Given the description of an element on the screen output the (x, y) to click on. 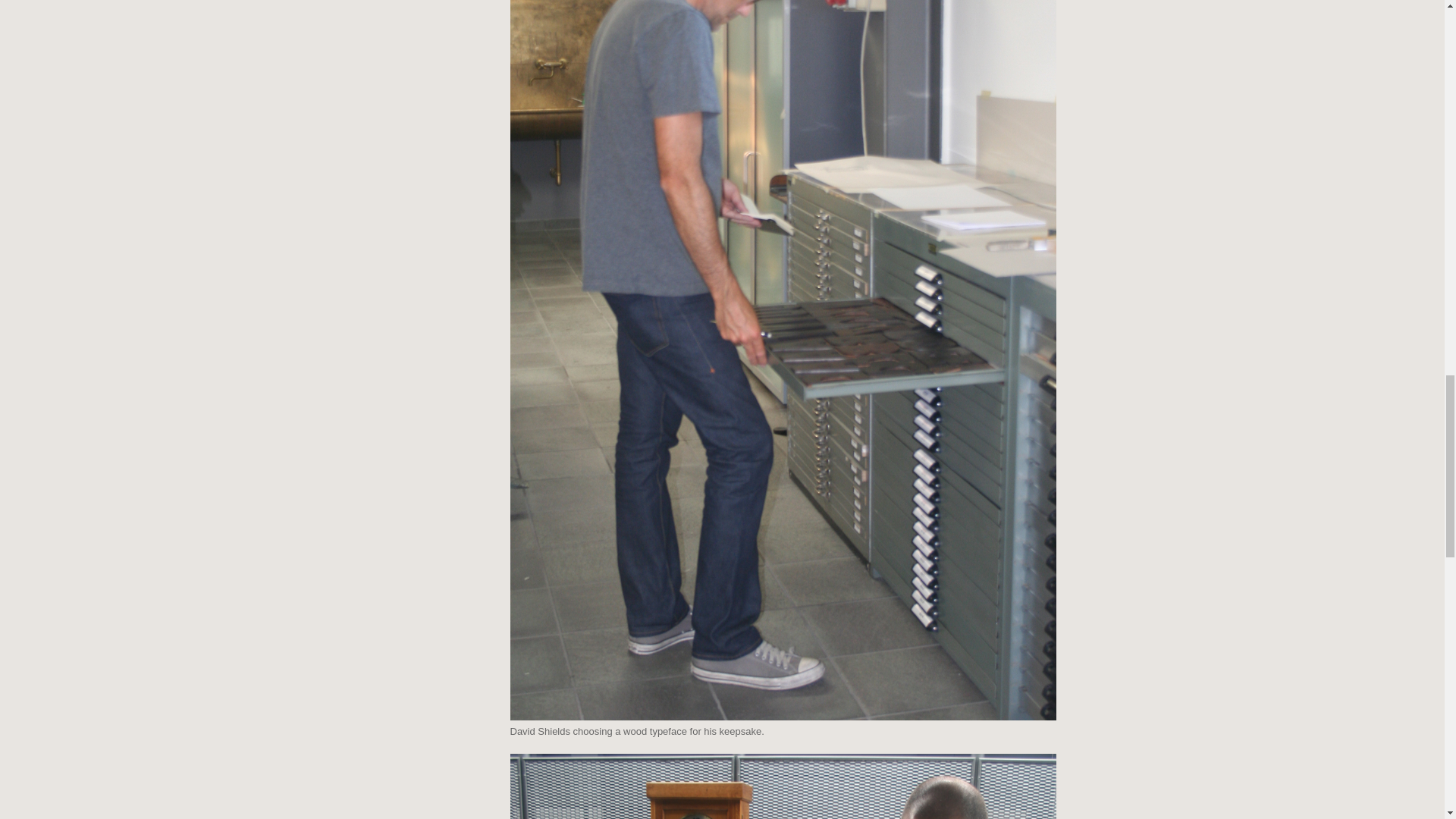
DianaDavid7174 (782, 786)
